Given the description of an element on the screen output the (x, y) to click on. 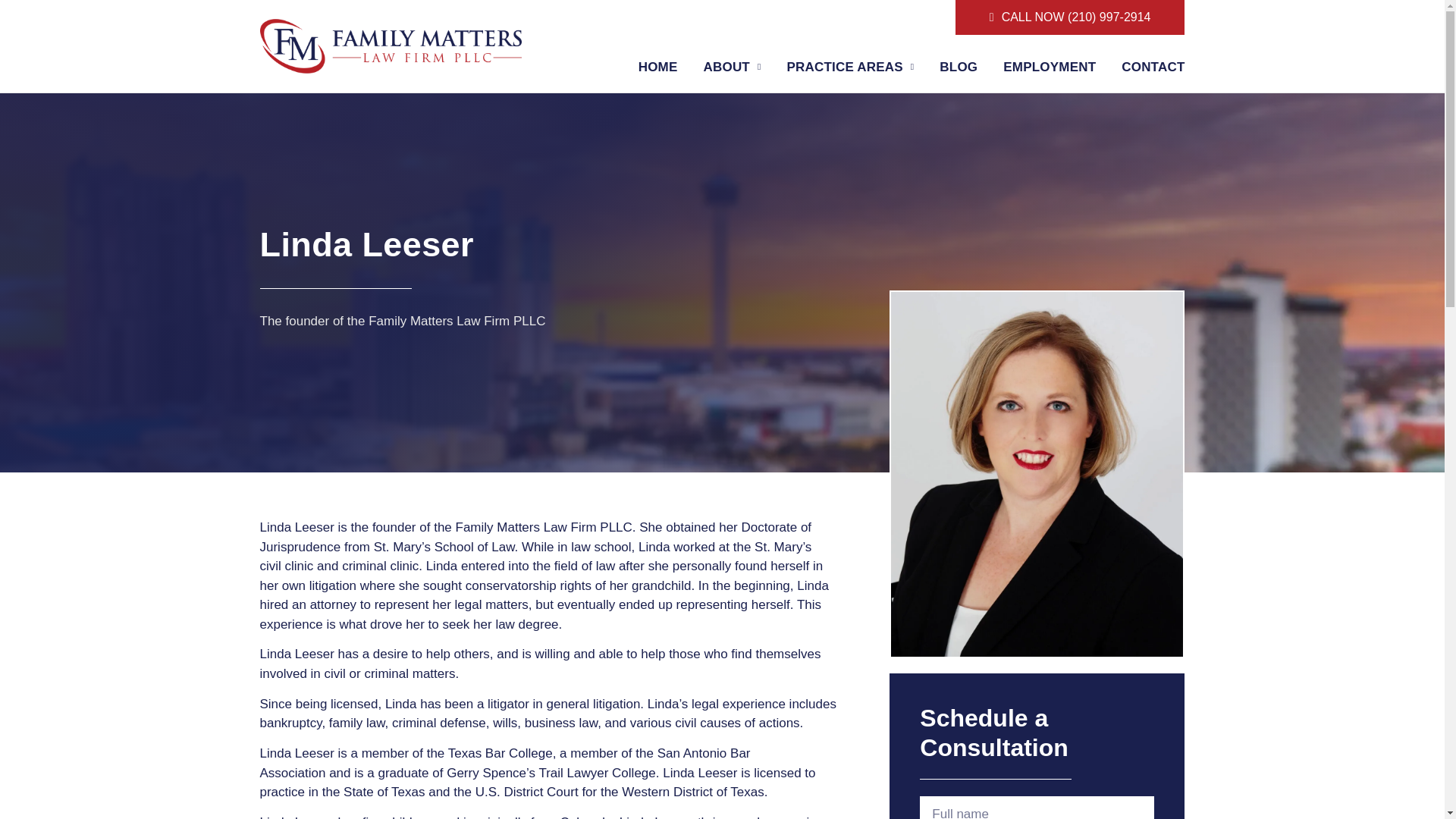
CONTACT (1153, 67)
PRACTICE AREAS (850, 67)
BLOG (957, 67)
EMPLOYMENT (1049, 67)
ABOUT (732, 67)
HOME (658, 67)
